Given the description of an element on the screen output the (x, y) to click on. 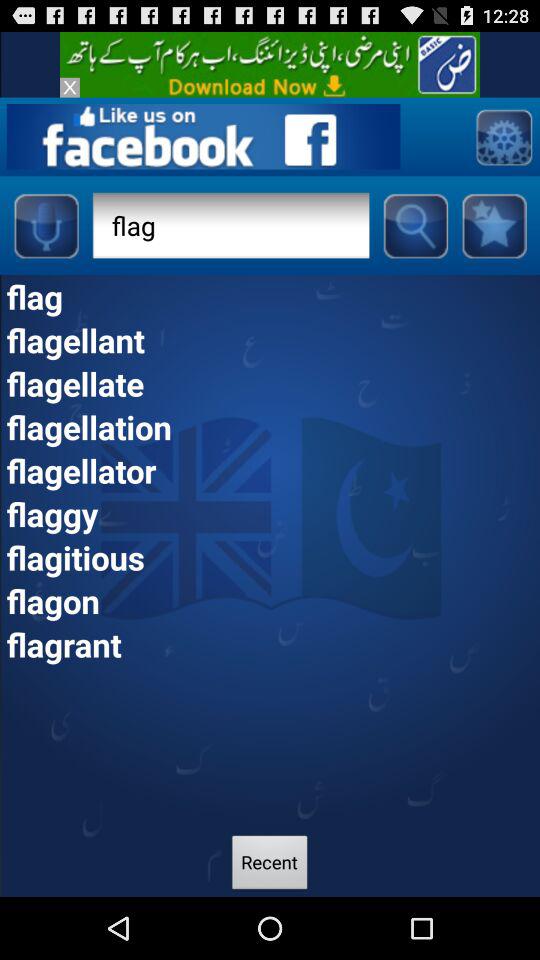
close advertisement button (69, 87)
